Given the description of an element on the screen output the (x, y) to click on. 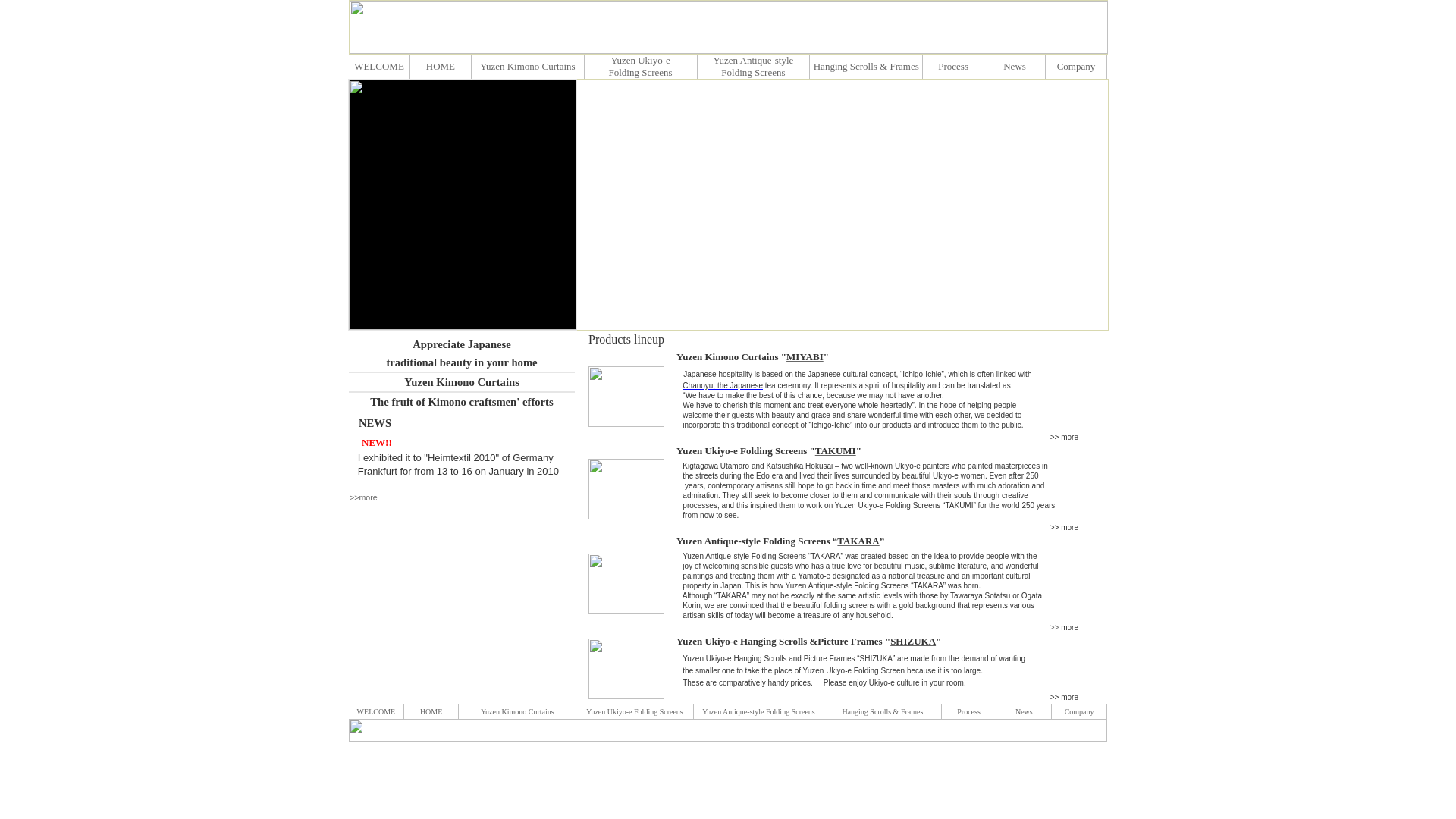
Yuzen Ukiyo-e Folding Screens (634, 710)
TAKUMI (835, 450)
WELCOME (378, 65)
Yuzen Antique-style Folding Screens (753, 65)
Company (1079, 710)
HOME (431, 710)
Hanging Scrolls (866, 710)
Yuzen Kimono Curtains (527, 66)
WELCOME (376, 710)
more (1069, 527)
Process (952, 66)
News (1014, 66)
Yuzen Ukiyo-e (639, 60)
Frames (912, 710)
Process (967, 710)
